Given the description of an element on the screen output the (x, y) to click on. 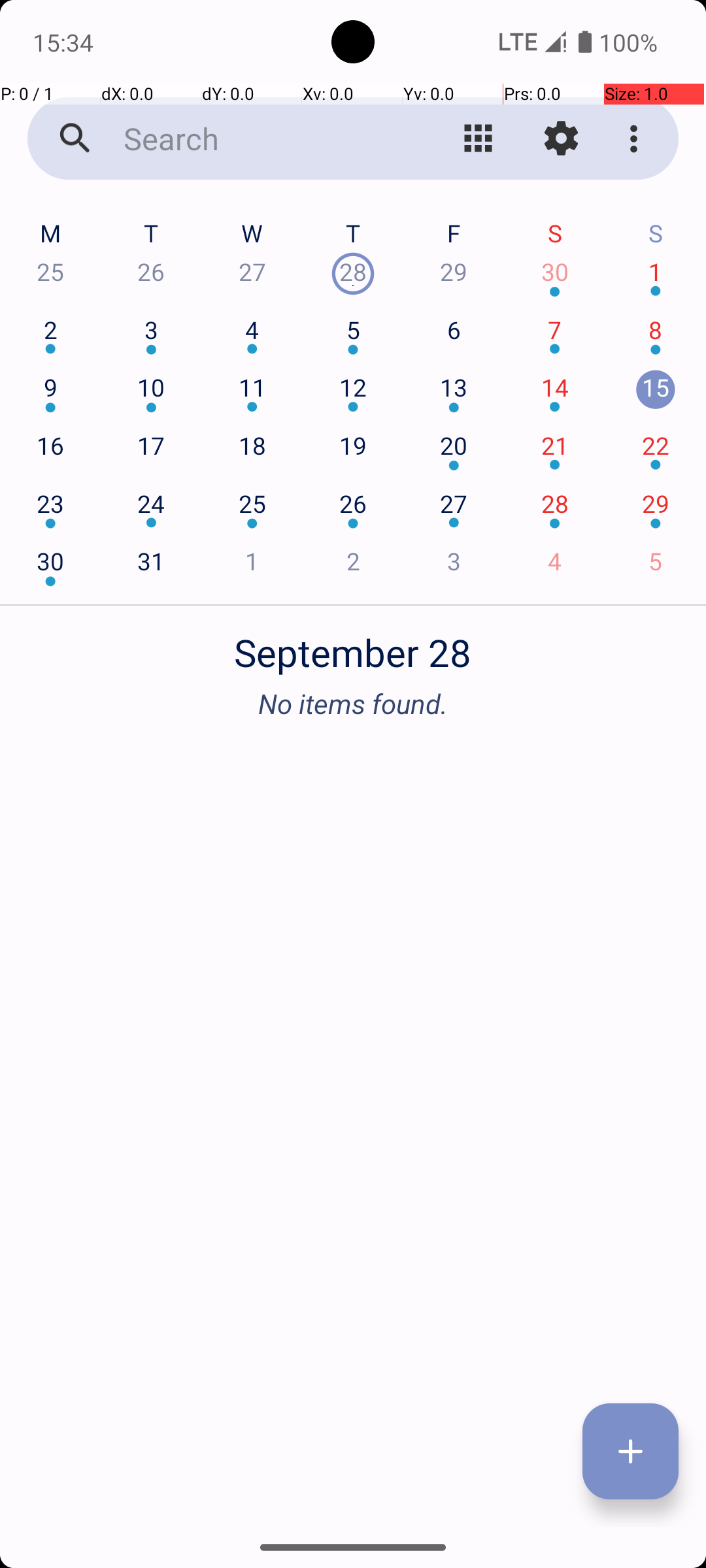
September 28 Element type: android.widget.TextView (352, 644)
